Given the description of an element on the screen output the (x, y) to click on. 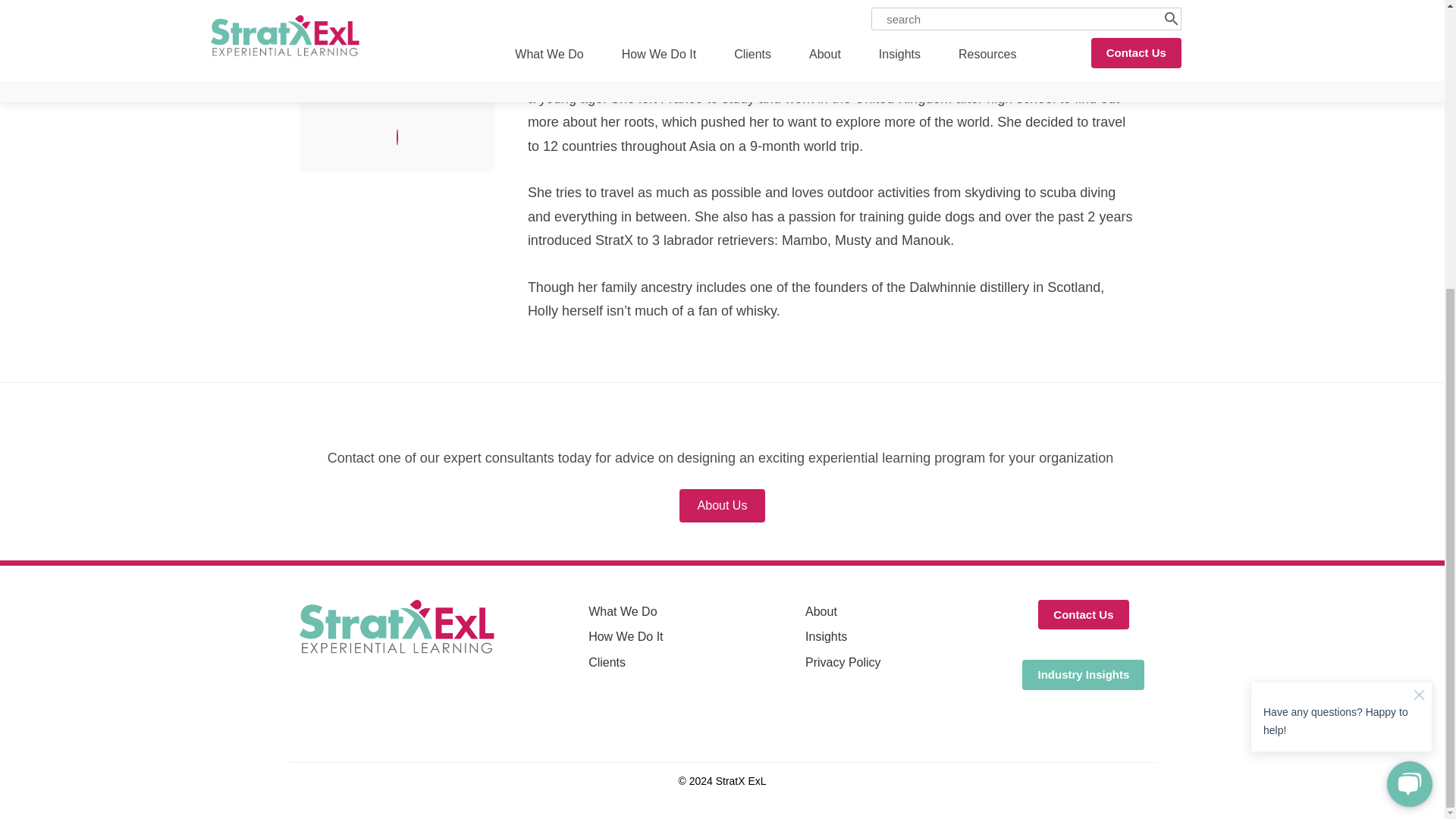
Holly Lloyd Owen.jpg (396, 13)
About Us (722, 505)
Industry Insights (1083, 675)
About Us (722, 505)
Contact Us (1083, 614)
Stratx-ExL-2 (397, 628)
